Given the description of an element on the screen output the (x, y) to click on. 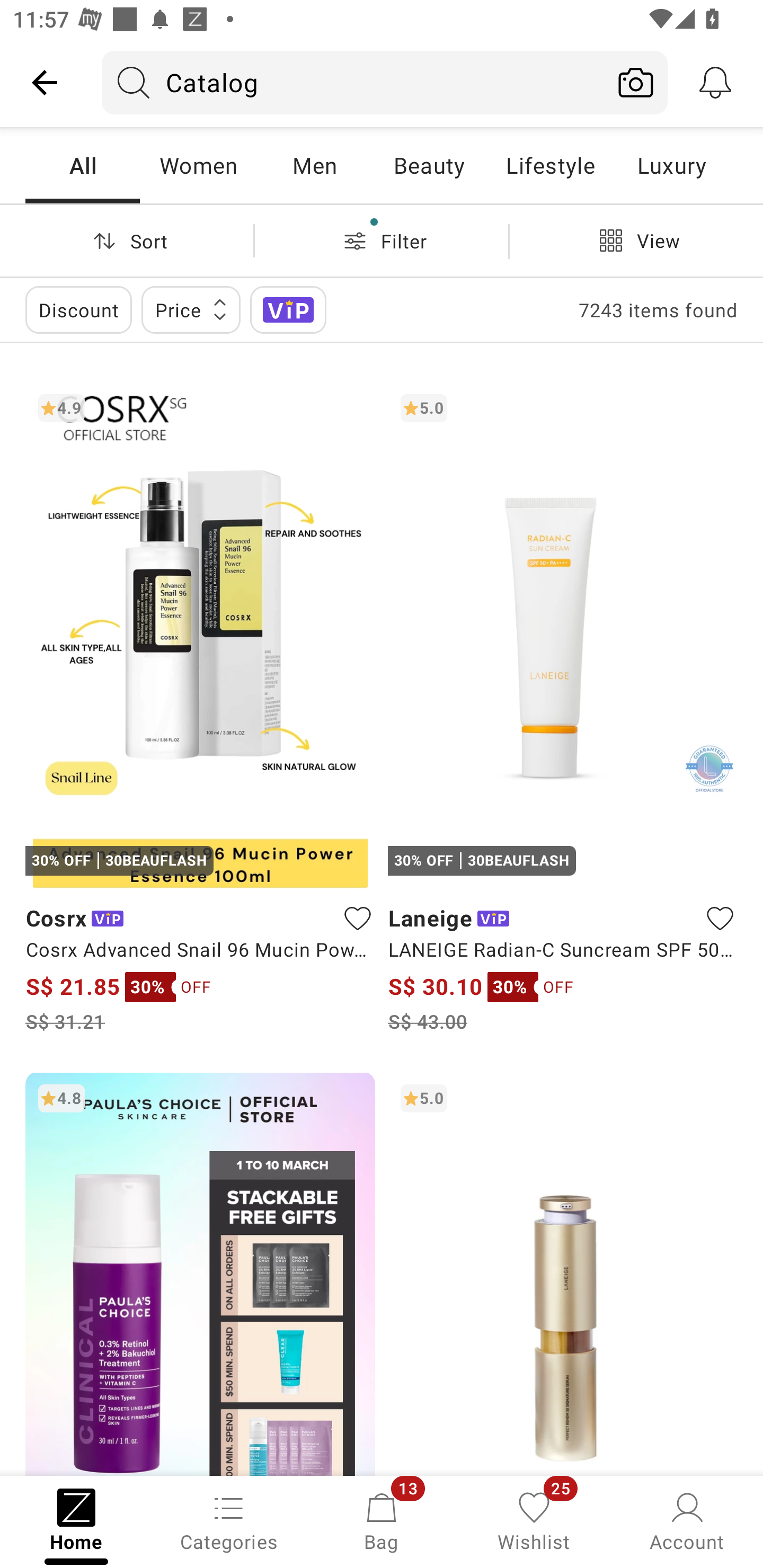
Navigate up (44, 82)
Catalog (352, 82)
Women (198, 165)
Men (314, 165)
Beauty (428, 165)
Lifestyle (550, 165)
Luxury (671, 165)
Sort (126, 240)
Filter (381, 240)
View (636, 240)
Discount (78, 309)
Price (190, 309)
4.8 (200, 1272)
5.0 (562, 1272)
Categories (228, 1519)
Bag, 13 new notifications Bag (381, 1519)
Wishlist, 25 new notifications Wishlist (533, 1519)
Account (686, 1519)
